Given the description of an element on the screen output the (x, y) to click on. 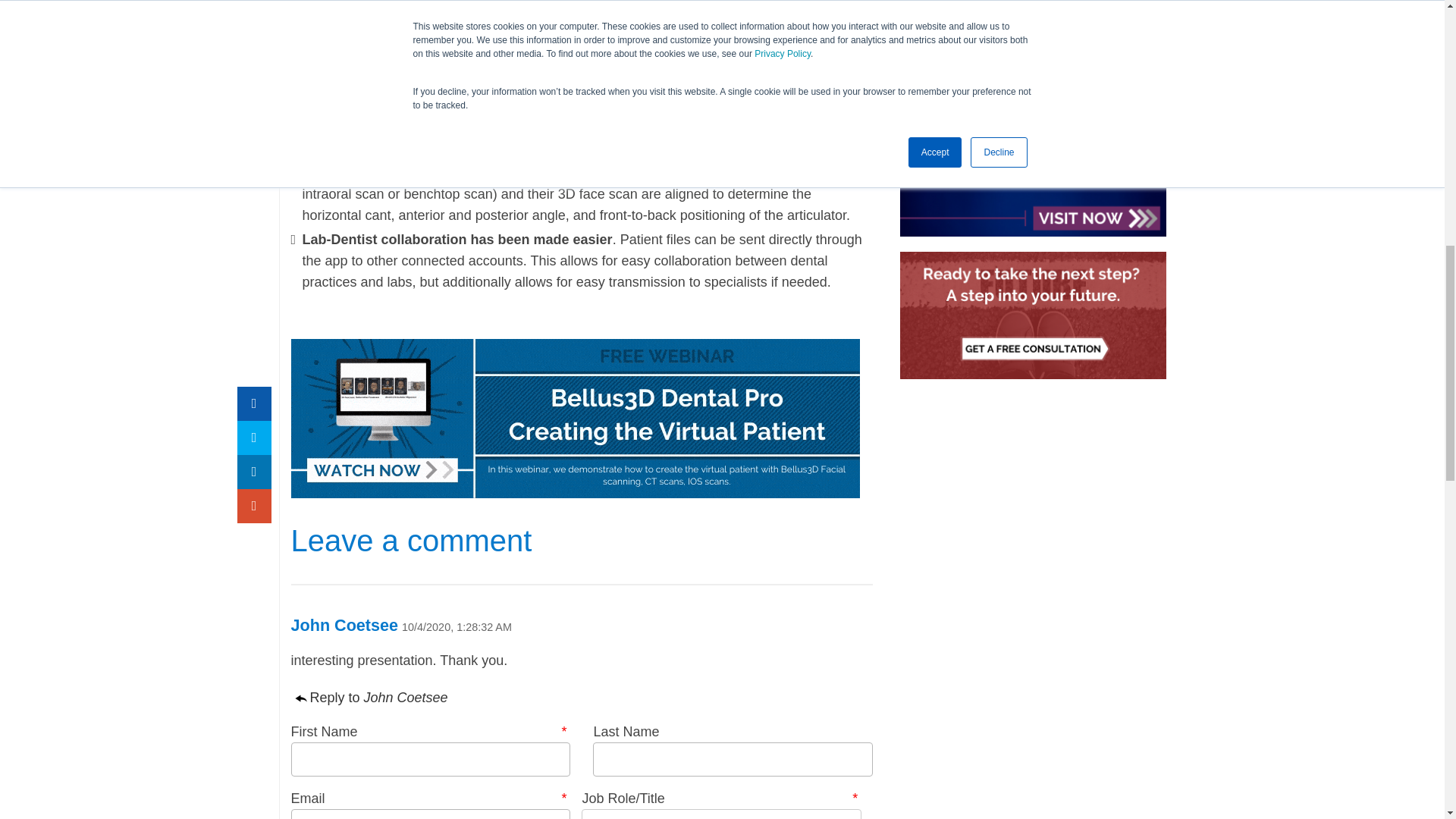
Reply to John Coetsee (375, 697)
